Given the description of an element on the screen output the (x, y) to click on. 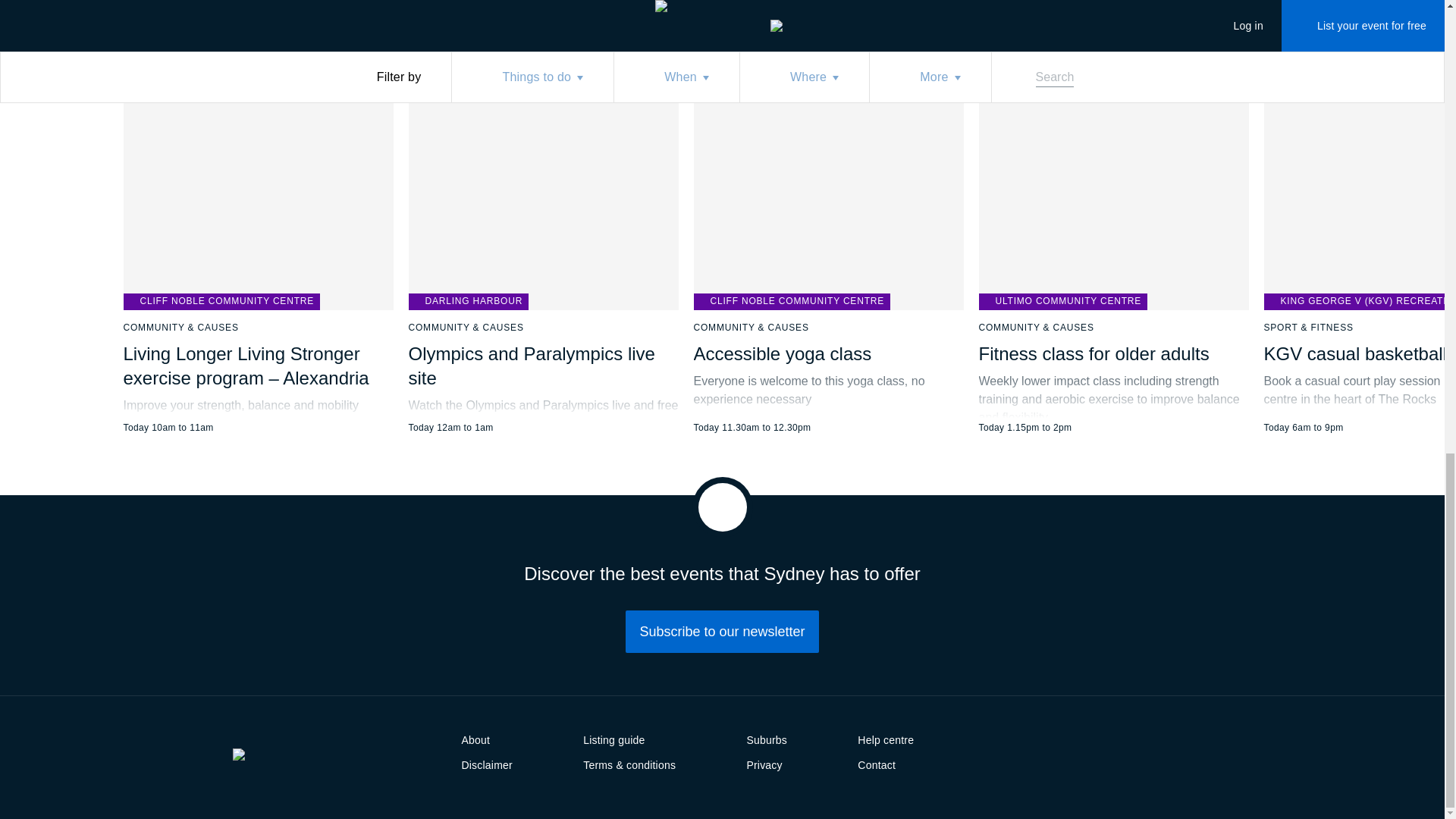
Olympics and Paralympics live site (530, 365)
See all (680, 4)
ULTIMO COMMUNITY CENTRE (1062, 301)
CLIFF NOBLE COMMUNITY CENTRE (221, 301)
DARLING HARBOUR (467, 301)
Accessible yoga class (781, 353)
CLIFF NOBLE COMMUNITY CENTRE (791, 301)
